Given the description of an element on the screen output the (x, y) to click on. 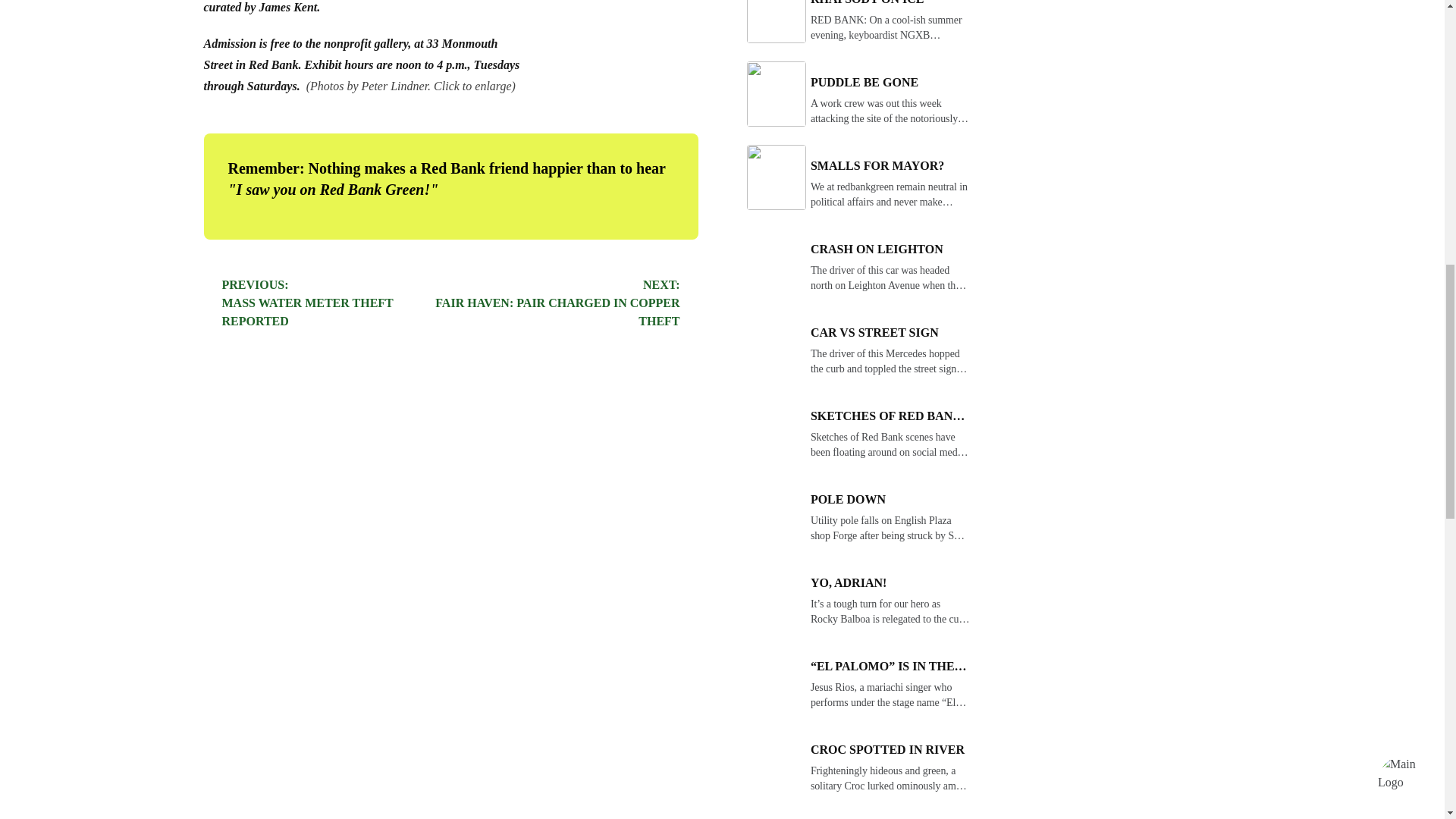
Art alliance 2 010712 (557, 302)
